Given the description of an element on the screen output the (x, y) to click on. 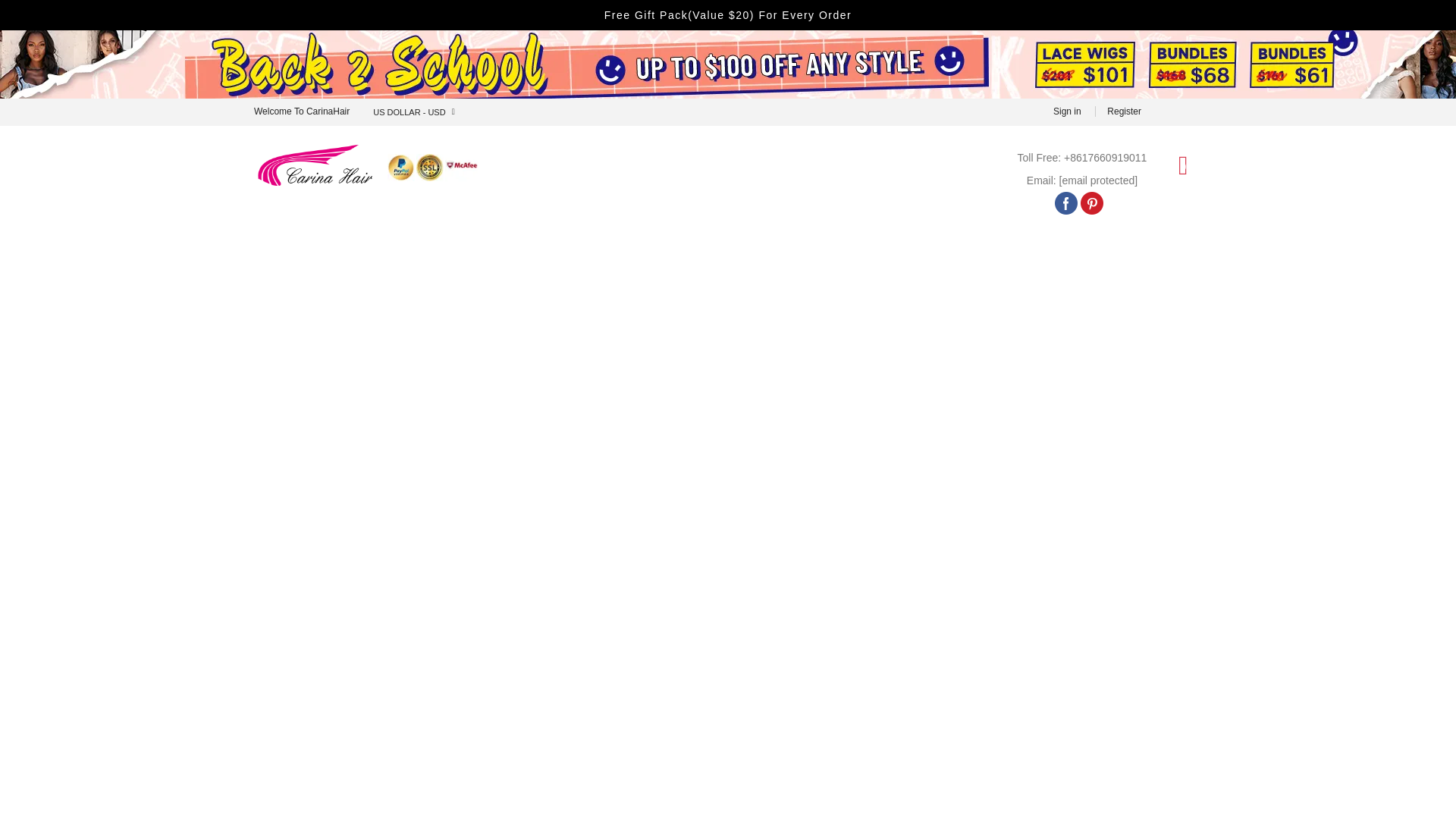
Sign in (1066, 111)
CarinaHair (368, 150)
Register (1123, 111)
0 (1183, 164)
Register (1123, 111)
Sign in (1066, 111)
